Given the description of an element on the screen output the (x, y) to click on. 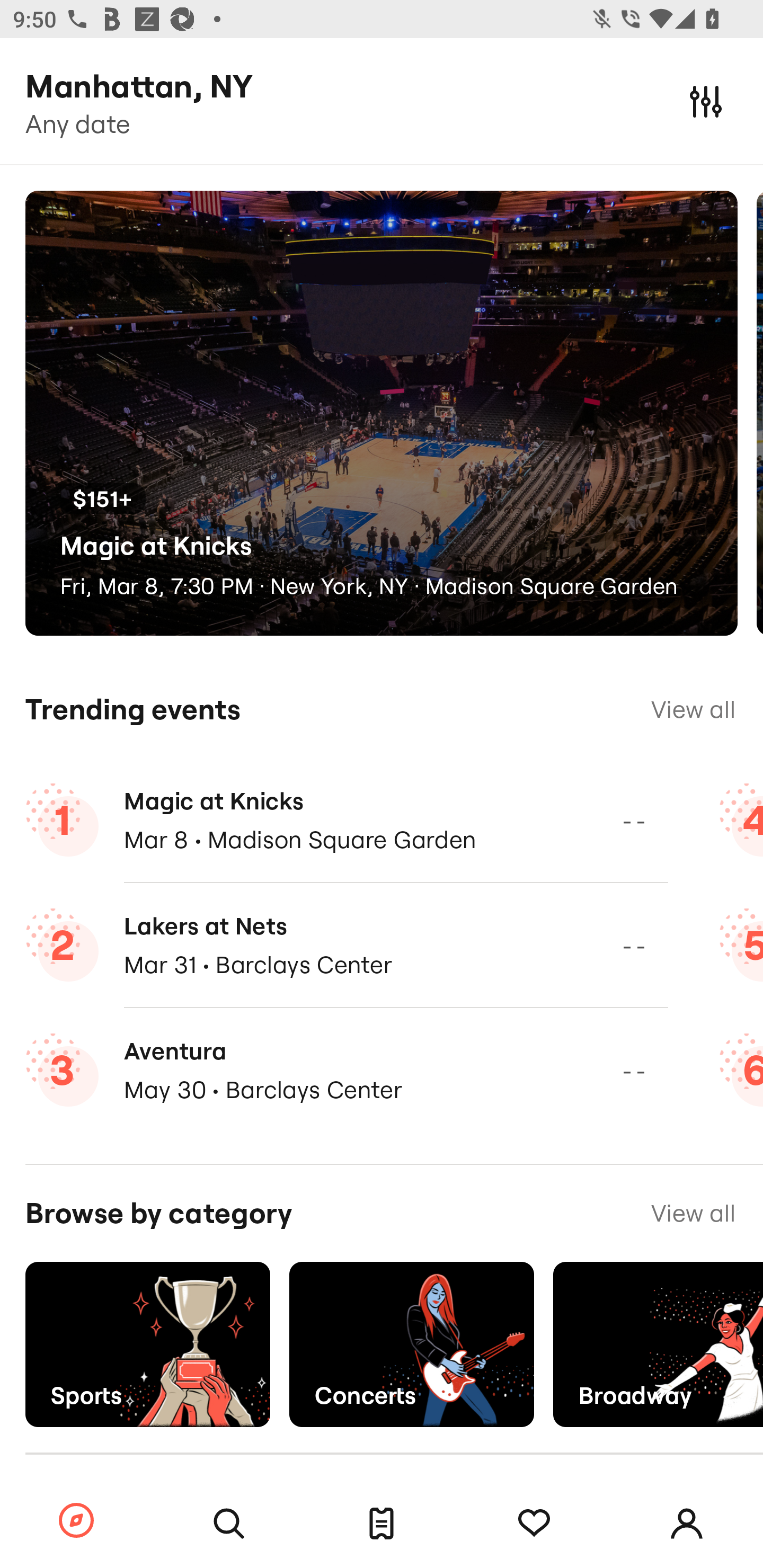
Filters (705, 100)
View all (693, 709)
View all (693, 1213)
Sports (147, 1344)
Concerts (411, 1344)
Broadway (658, 1344)
Browse (76, 1521)
Search (228, 1523)
Tickets (381, 1523)
Tracking (533, 1523)
Account (686, 1523)
